Given the description of an element on the screen output the (x, y) to click on. 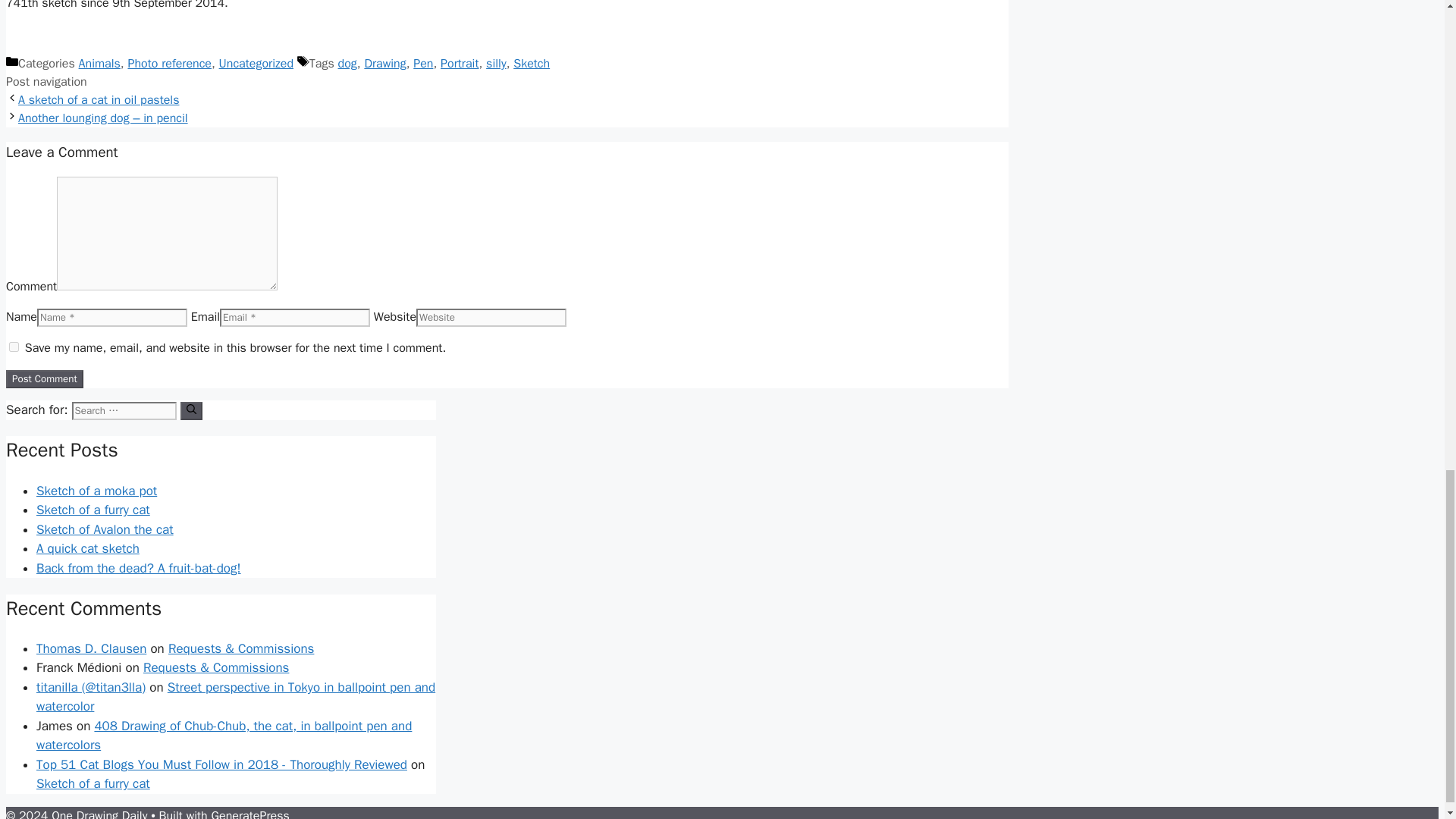
A sketch of a cat in oil pastels (98, 99)
Back from the dead? A fruit-bat-dog! (138, 568)
dog (346, 63)
Uncategorized (256, 63)
Sketch of a furry cat (92, 509)
Previous (98, 99)
Post Comment (43, 379)
Pen (422, 63)
Post Comment (43, 379)
Animals (99, 63)
Thomas D. Clausen (91, 648)
A quick cat sketch (87, 548)
Drawing (385, 63)
yes (13, 347)
Portrait (460, 63)
